Given the description of an element on the screen output the (x, y) to click on. 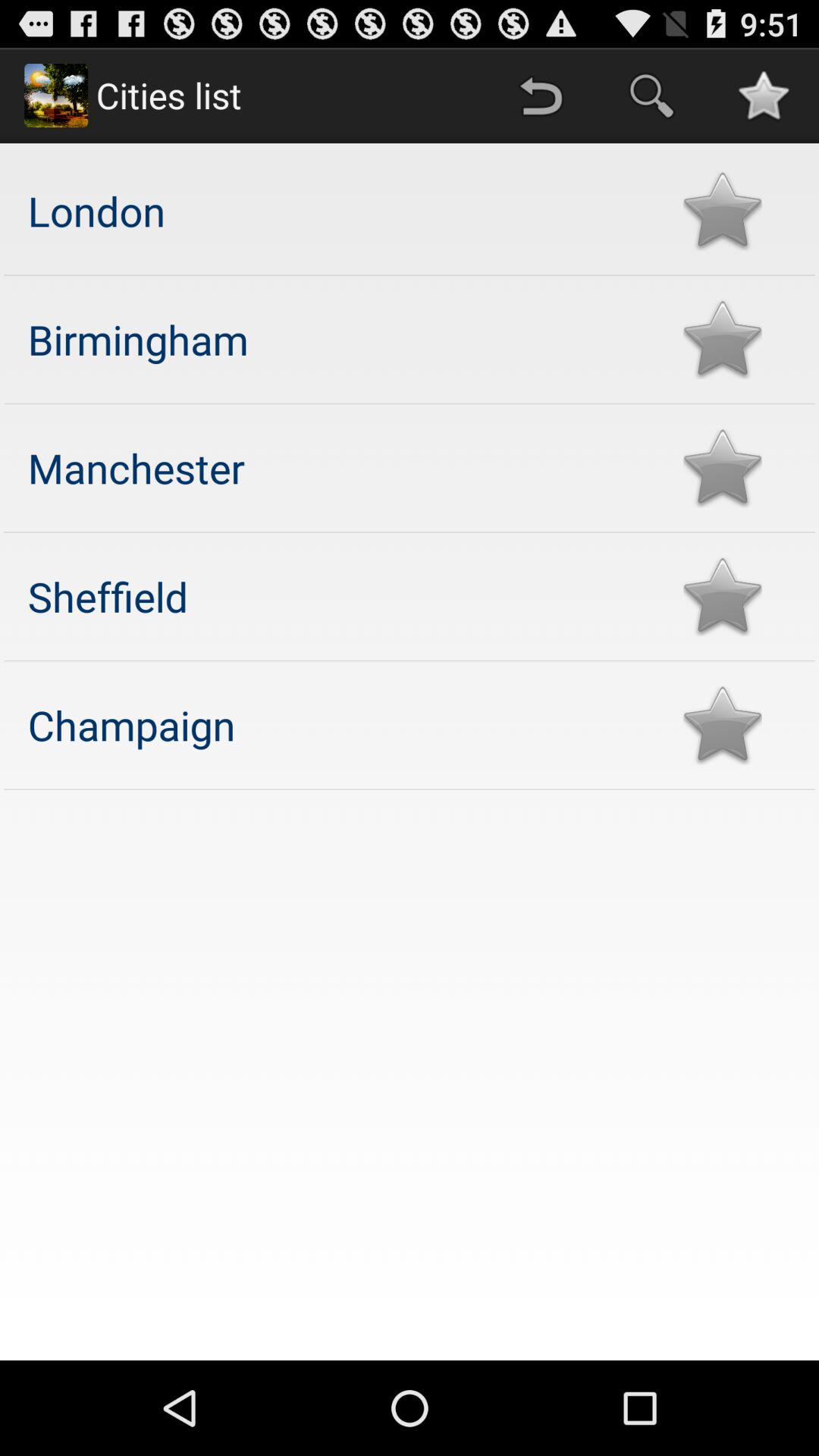
add to favorites (722, 210)
